Given the description of an element on the screen output the (x, y) to click on. 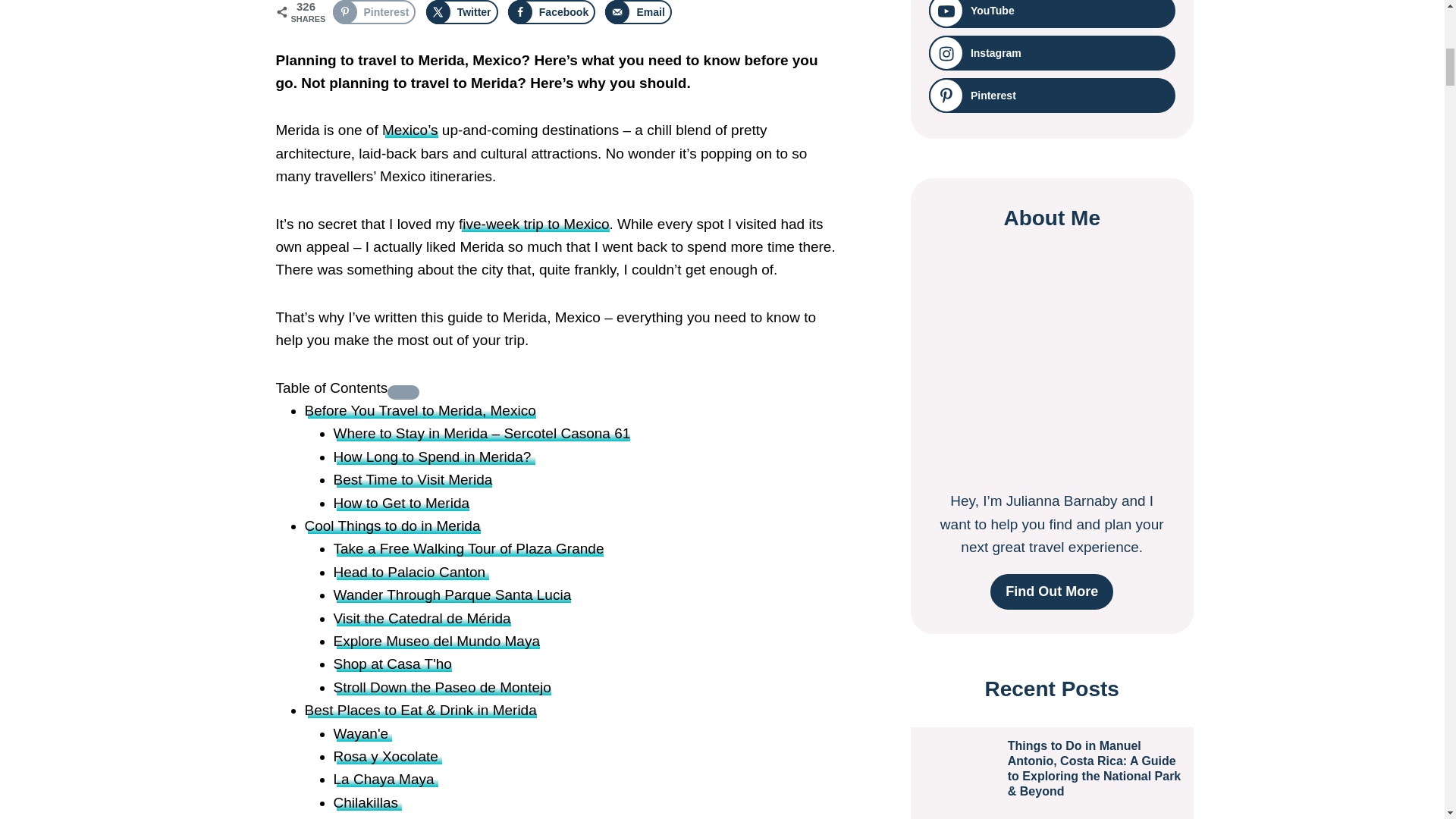
Send over email (638, 12)
Save to Pinterest (372, 12)
Follow on Pinterest (1051, 95)
Follow on YouTube (1051, 13)
Follow on Instagram (1051, 53)
Share on X (461, 12)
Share on Facebook (551, 12)
